Given the description of an element on the screen output the (x, y) to click on. 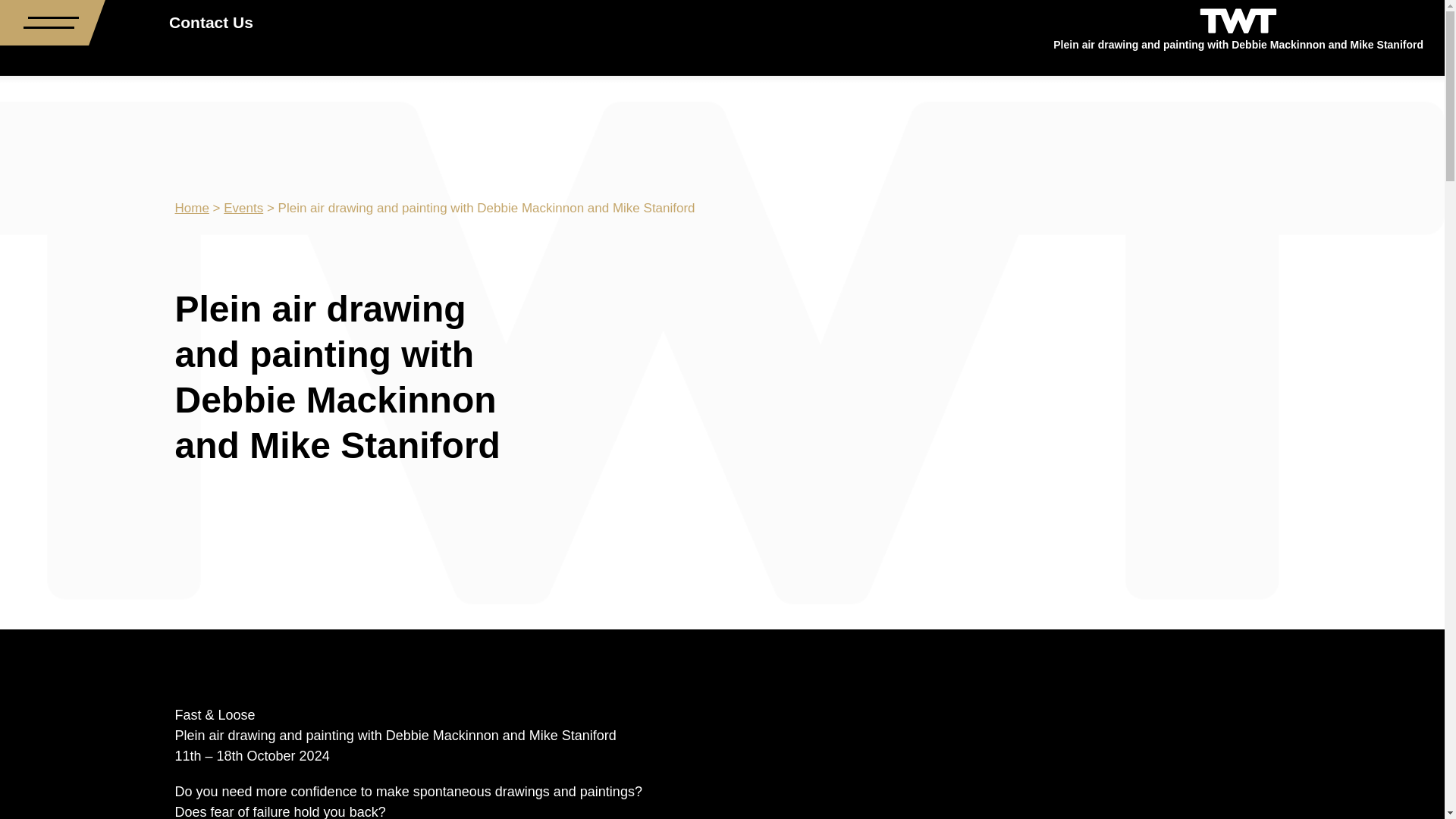
Contact Us (201, 22)
